Given the description of an element on the screen output the (x, y) to click on. 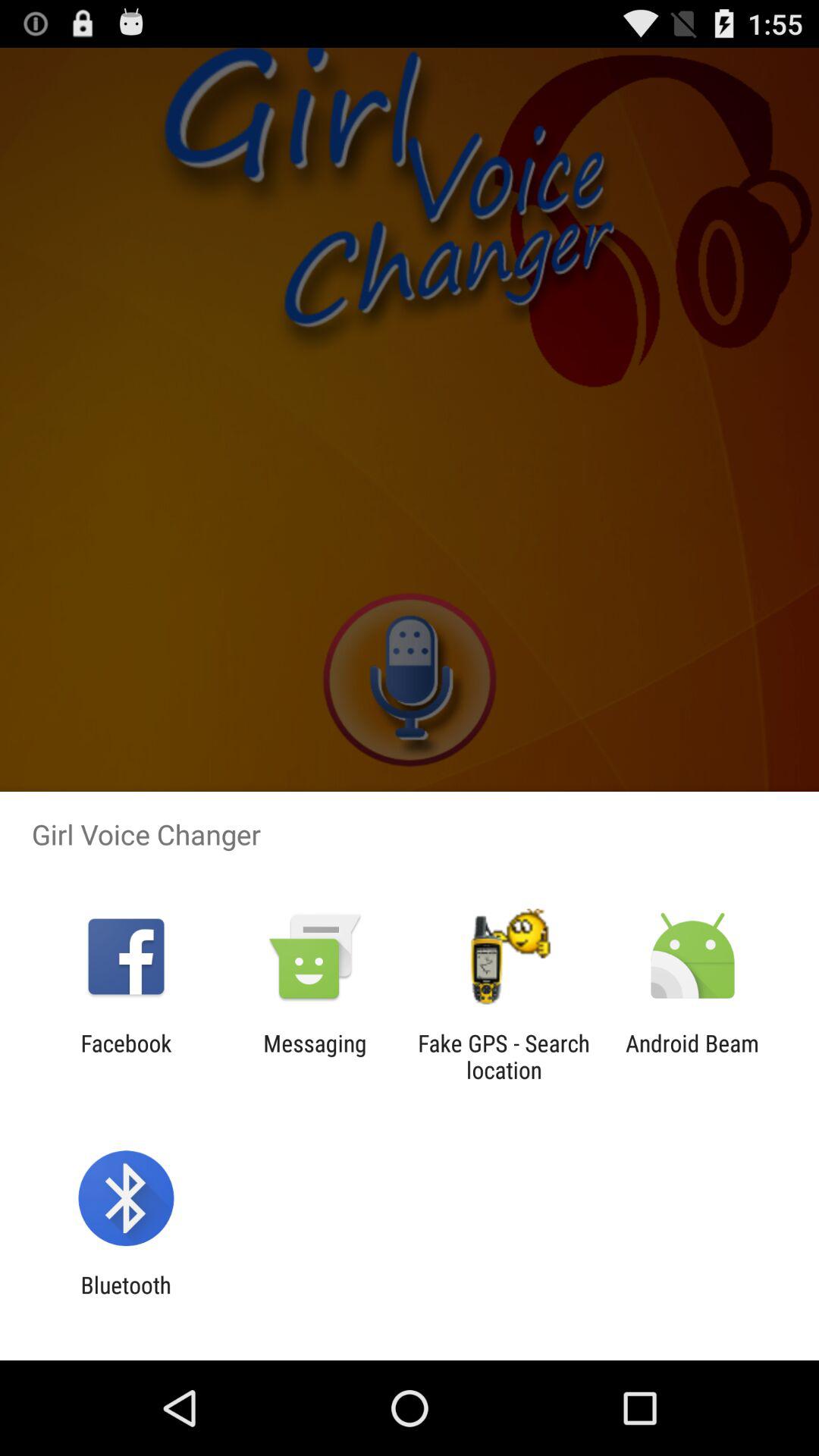
launch item to the left of android beam app (503, 1056)
